Given the description of an element on the screen output the (x, y) to click on. 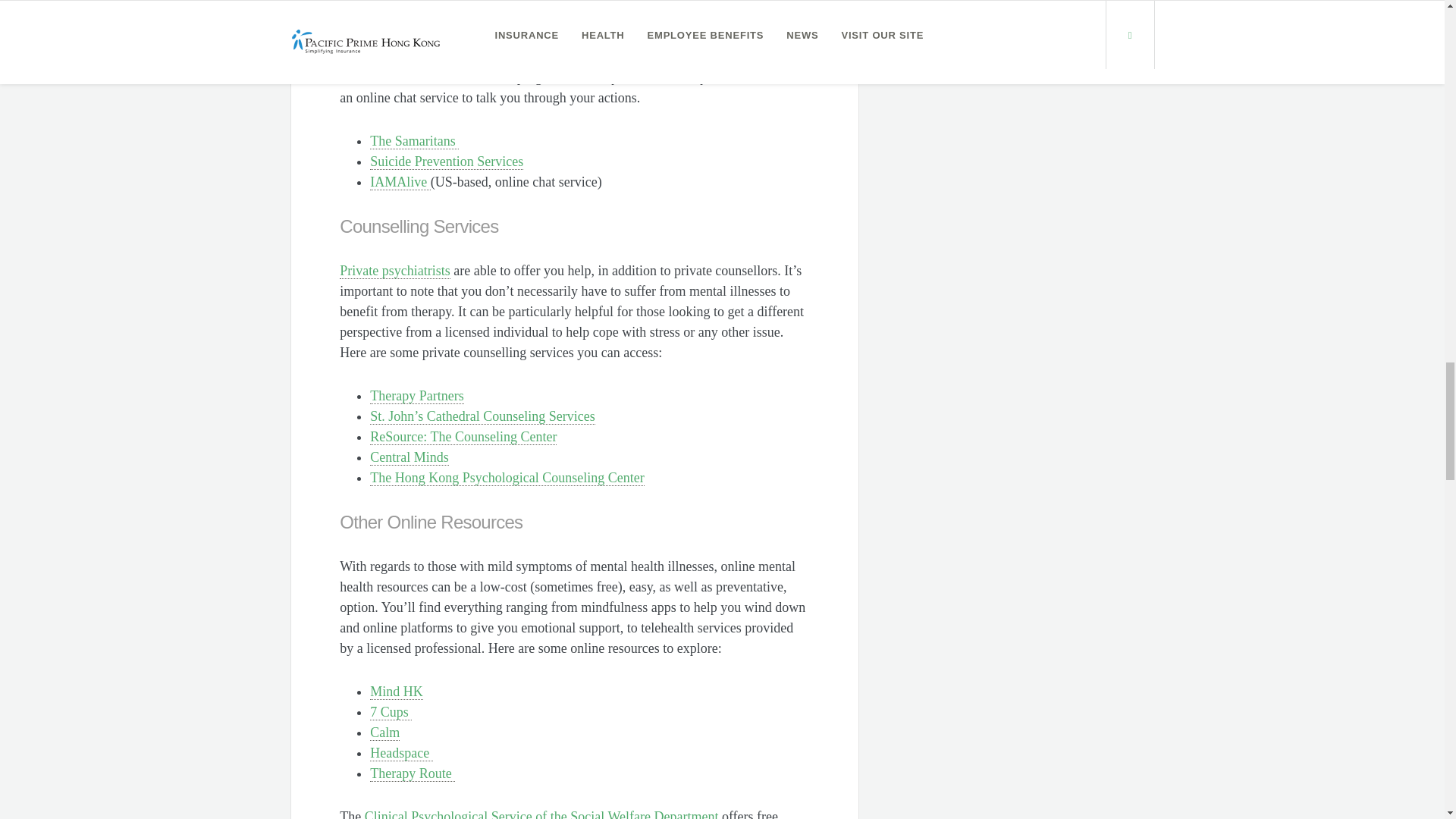
The Samaritans  (413, 141)
IAMAlive (399, 182)
Suicide Prevention Services (445, 161)
